Given the description of an element on the screen output the (x, y) to click on. 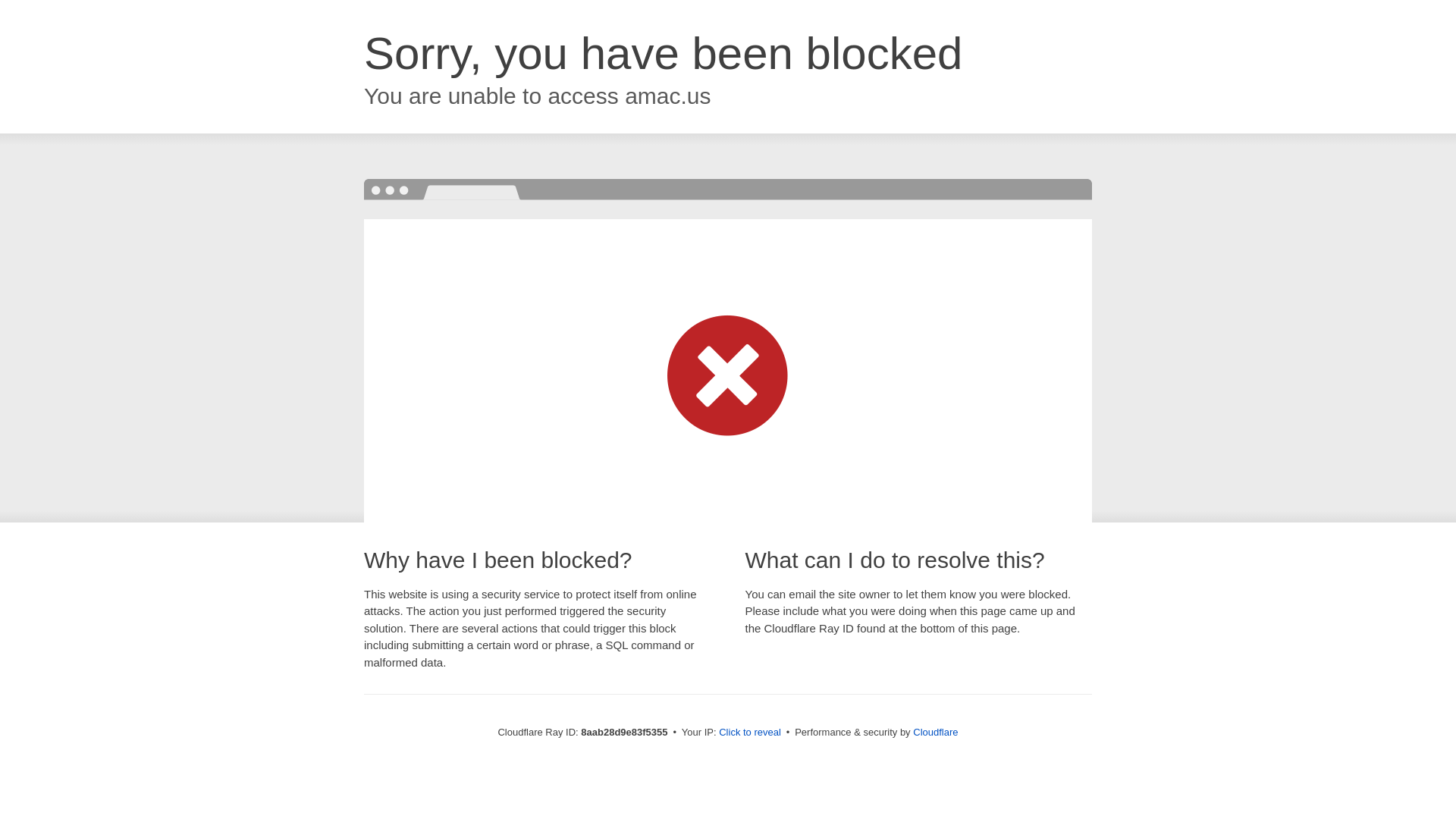
Cloudflare (935, 731)
Click to reveal (749, 732)
